Given the description of an element on the screen output the (x, y) to click on. 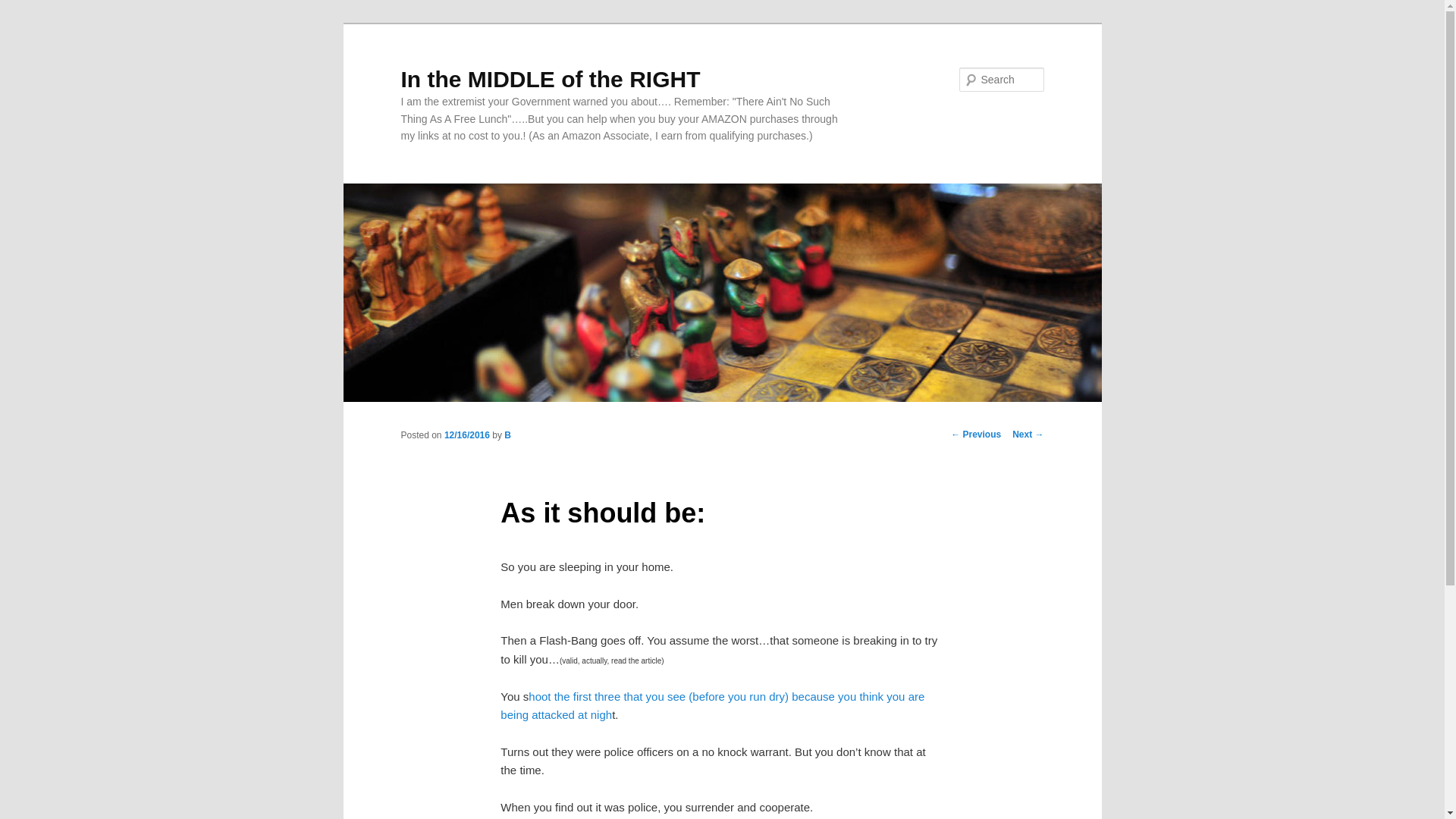
Search (24, 8)
13:16 (466, 434)
In the MIDDLE of the RIGHT (550, 78)
